Given the description of an element on the screen output the (x, y) to click on. 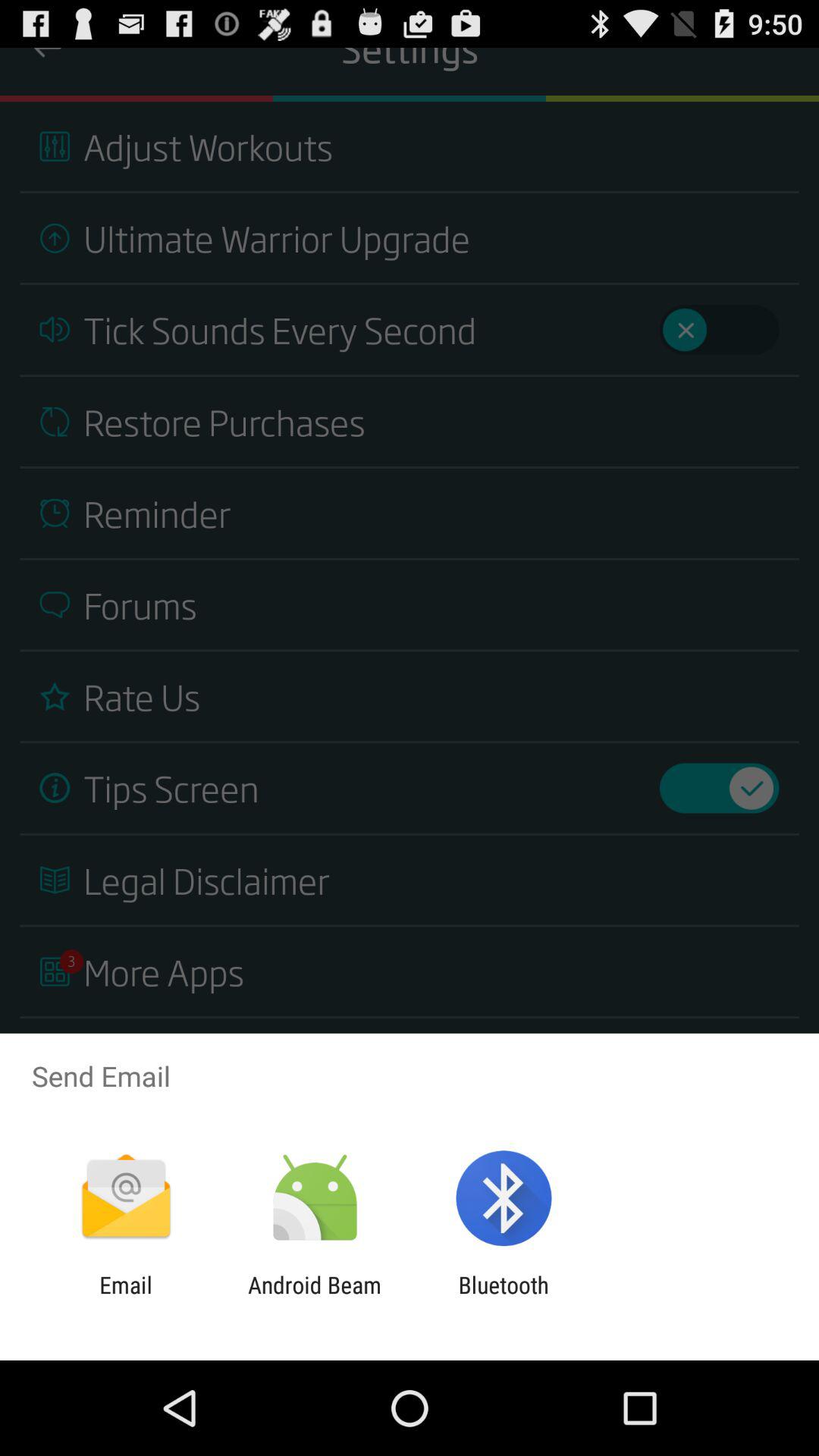
open app to the right of the email item (314, 1298)
